Given the description of an element on the screen output the (x, y) to click on. 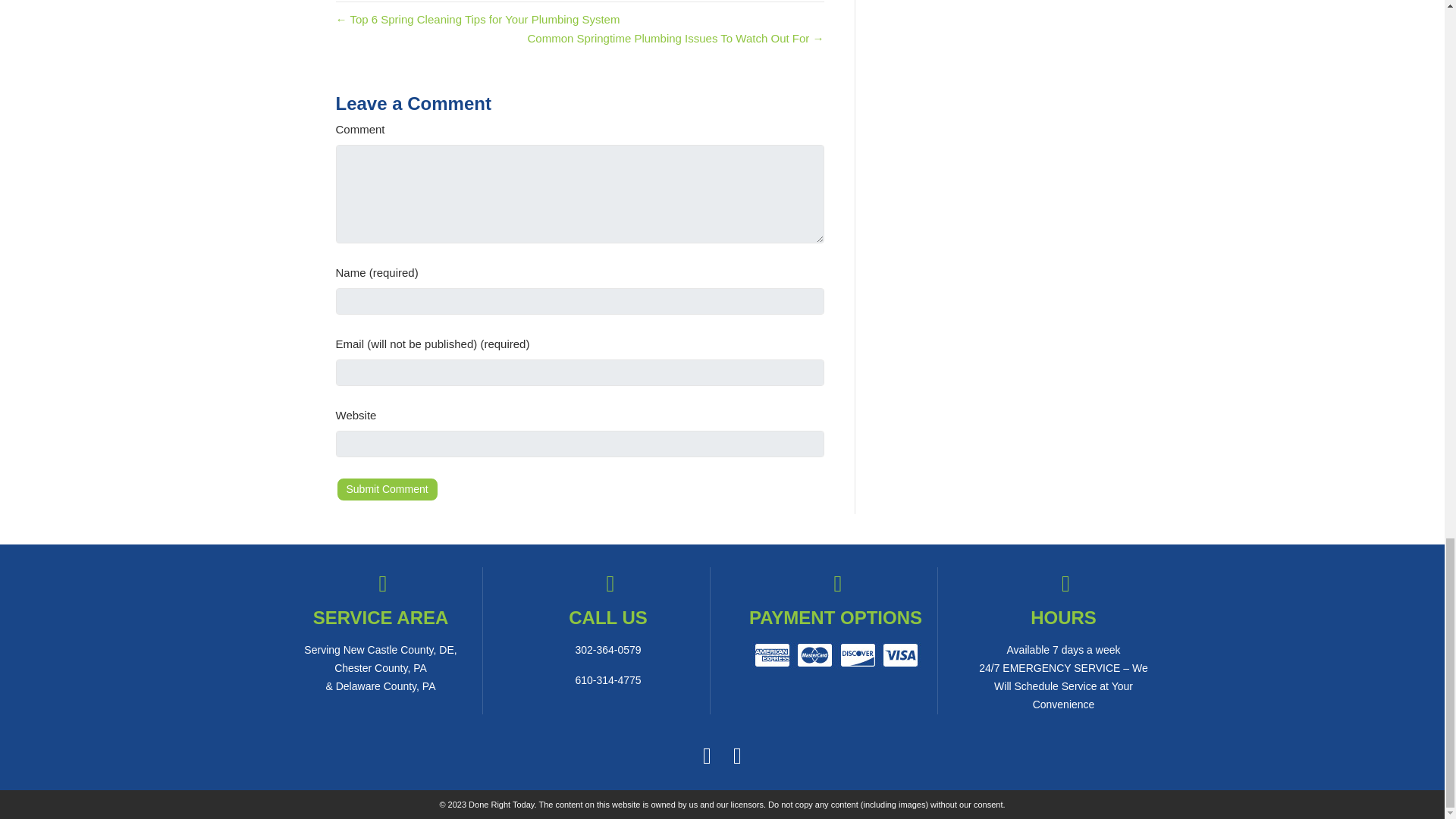
Instagram (737, 754)
Untitled-2 (835, 655)
Facebook (707, 754)
Submit Comment (386, 489)
